Given the description of an element on the screen output the (x, y) to click on. 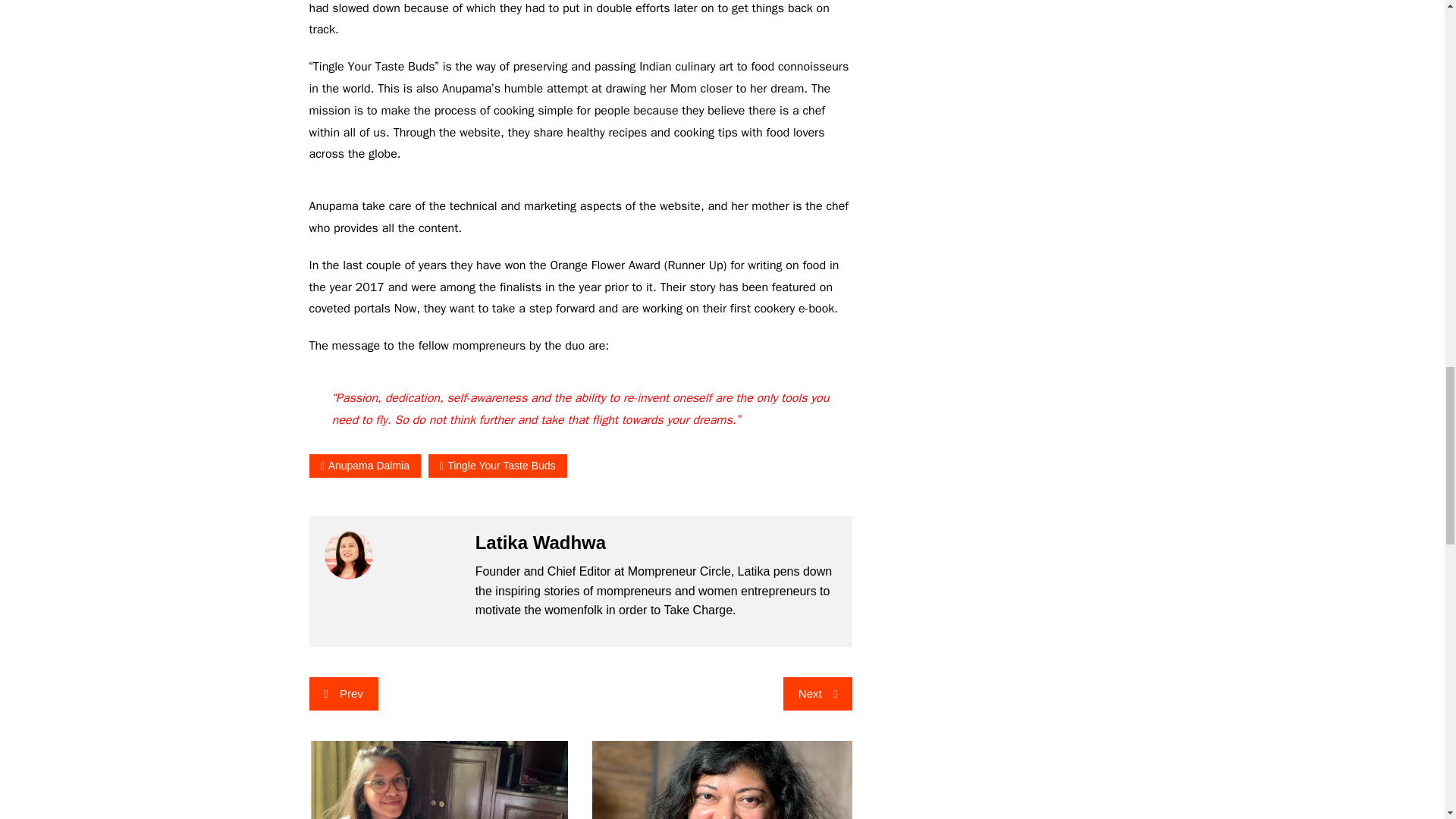
Tingle Your Taste Buds (497, 465)
Next (817, 693)
Prev (343, 693)
Anupama Dalmia (365, 465)
